Given the description of an element on the screen output the (x, y) to click on. 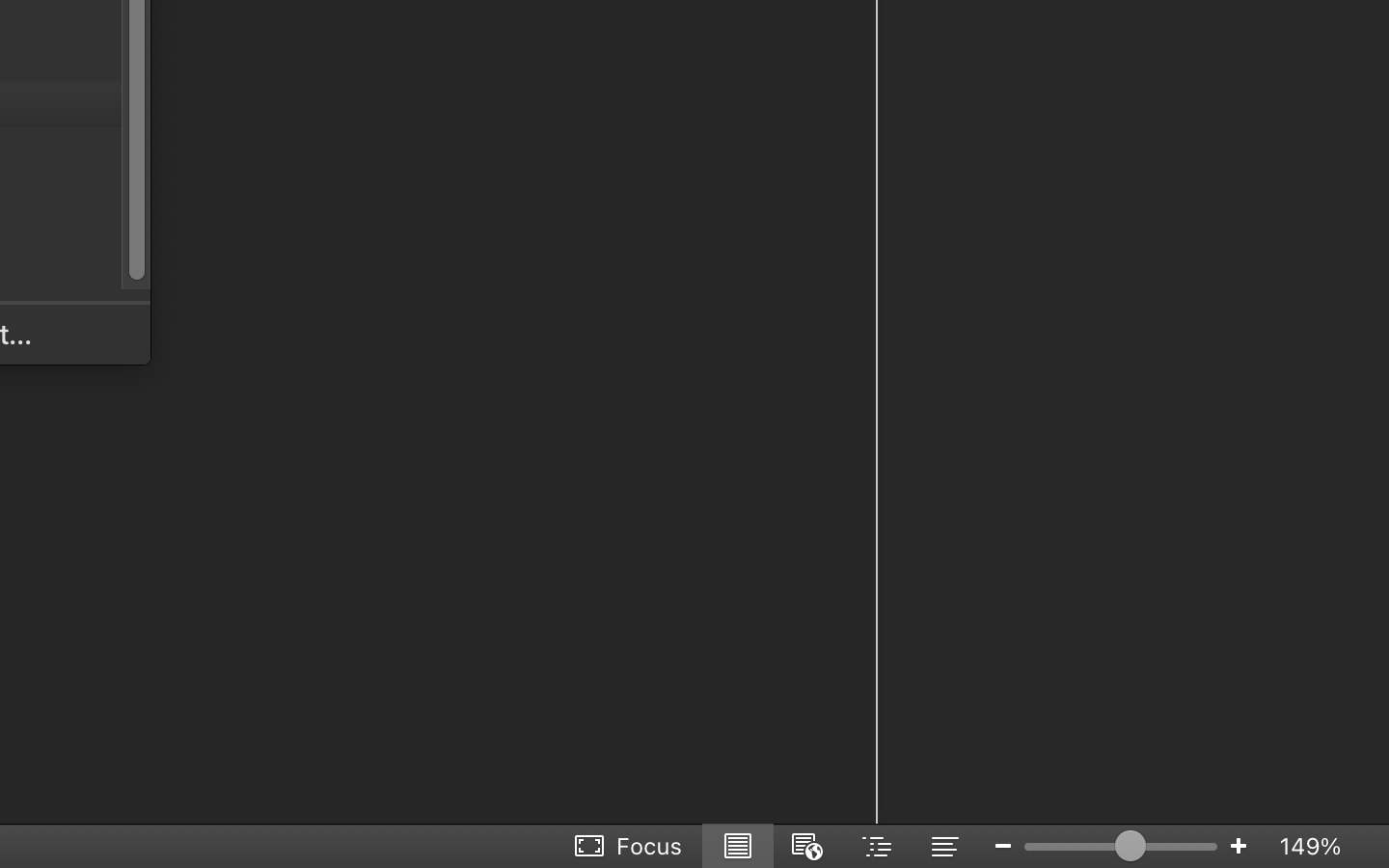
0 Element type: AXCheckBox (629, 845)
1123.0 Element type: AXSlider (1120, 845)
